Given the description of an element on the screen output the (x, y) to click on. 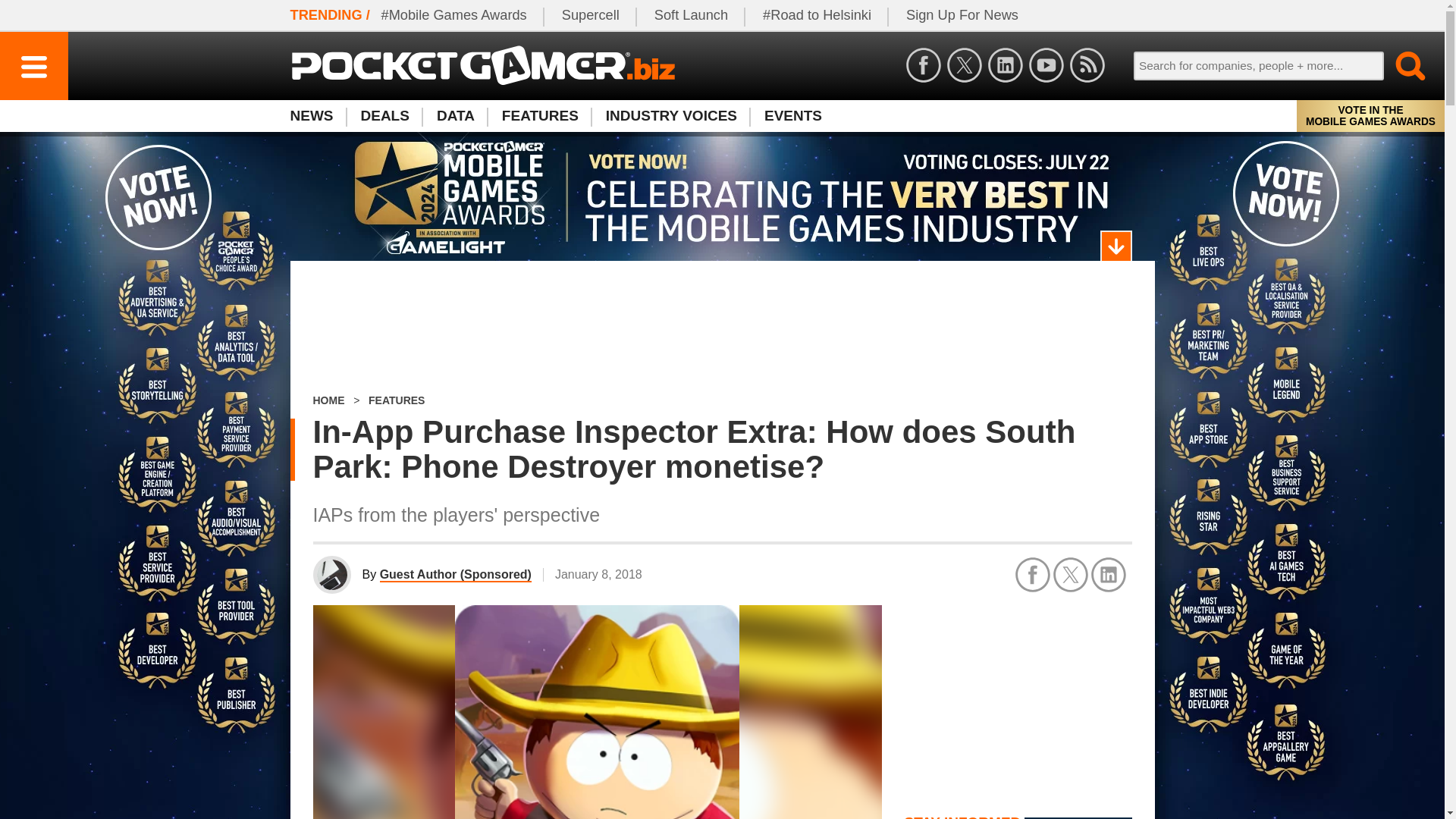
FEATURES (396, 400)
INDUSTRY VOICES (671, 115)
3rd party ad content (1017, 699)
Sign Up For News (961, 15)
HOME (328, 400)
NEWS (317, 115)
FEATURES (539, 115)
Soft Launch (691, 15)
DEALS (385, 115)
Supercell (590, 15)
DATA (455, 115)
Go (1402, 65)
Go (1402, 65)
3rd party ad content (722, 328)
